Given the description of an element on the screen output the (x, y) to click on. 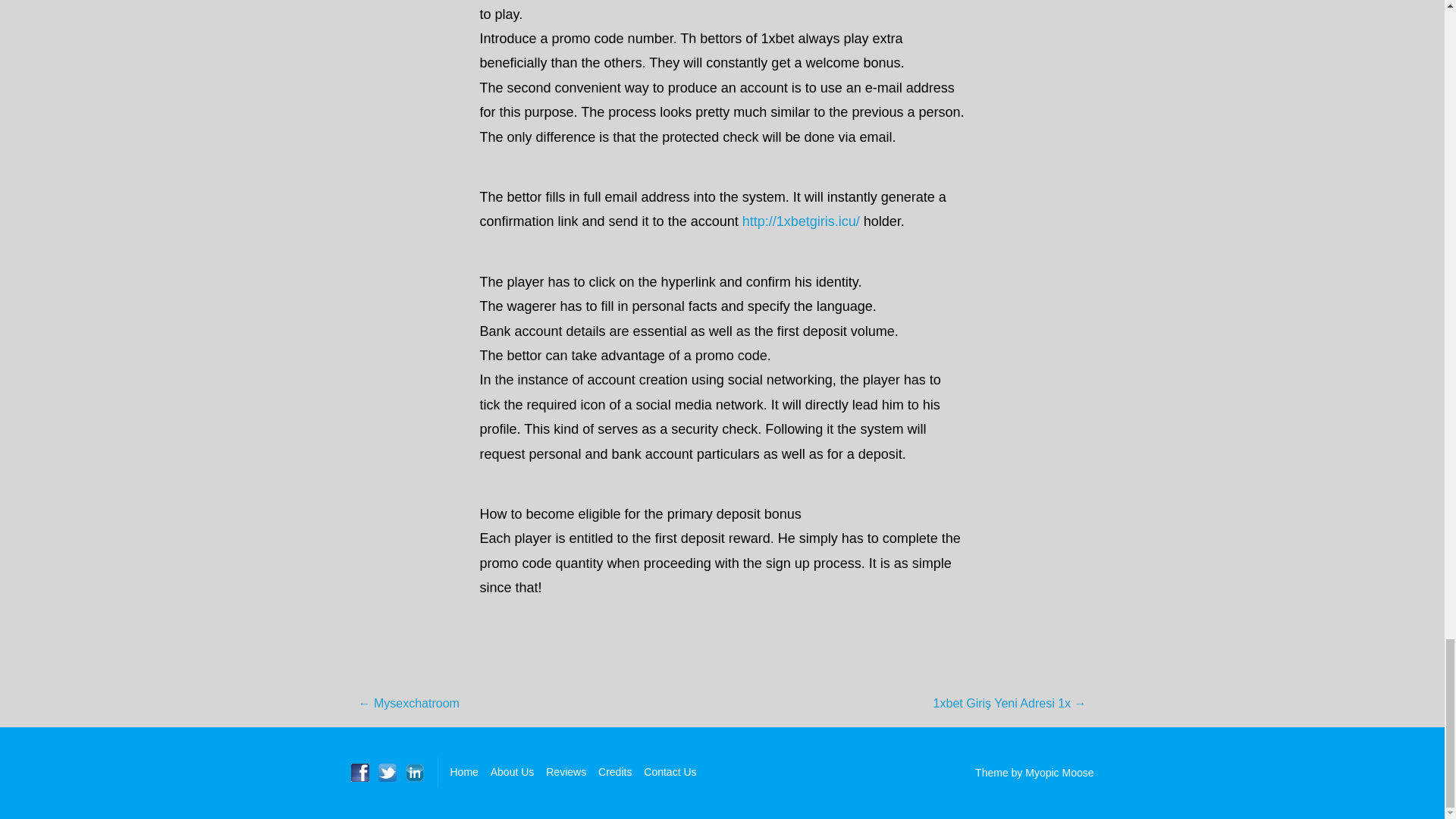
Contact Us (669, 771)
Credits (614, 771)
Myopic Moose (1059, 772)
Follow Us on Facebook (359, 772)
Home (464, 771)
Follow Us on LinkedIn (413, 772)
About Us (512, 771)
Follow Us on Twitter (386, 772)
Reviews (566, 771)
